Given the description of an element on the screen output the (x, y) to click on. 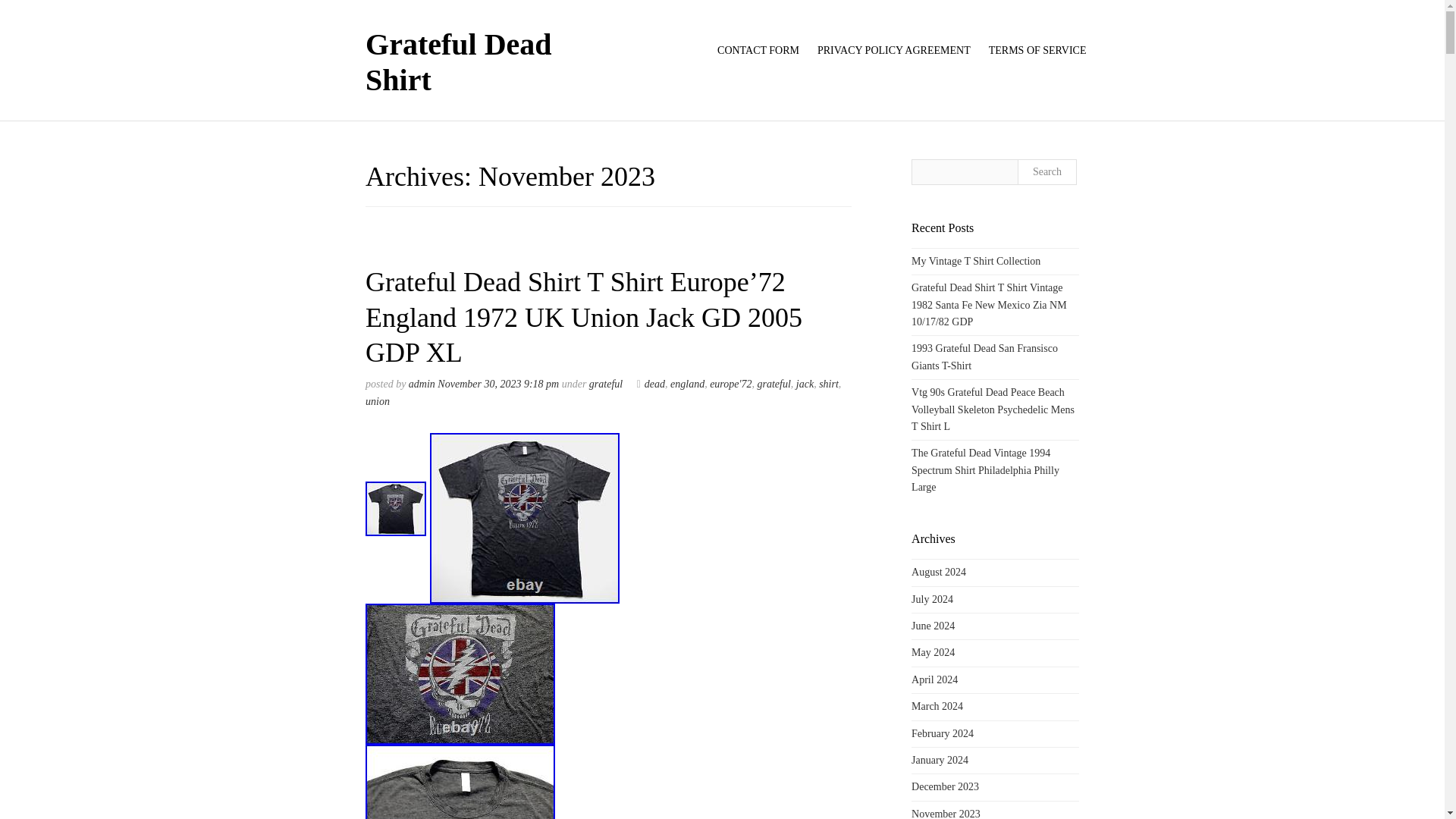
shirt (828, 383)
grateful (606, 383)
CONTACT FORM (757, 51)
Search (1046, 171)
Posts by admin (422, 383)
TERMS OF SERVICE (1032, 51)
dead (651, 383)
